Given the description of an element on the screen output the (x, y) to click on. 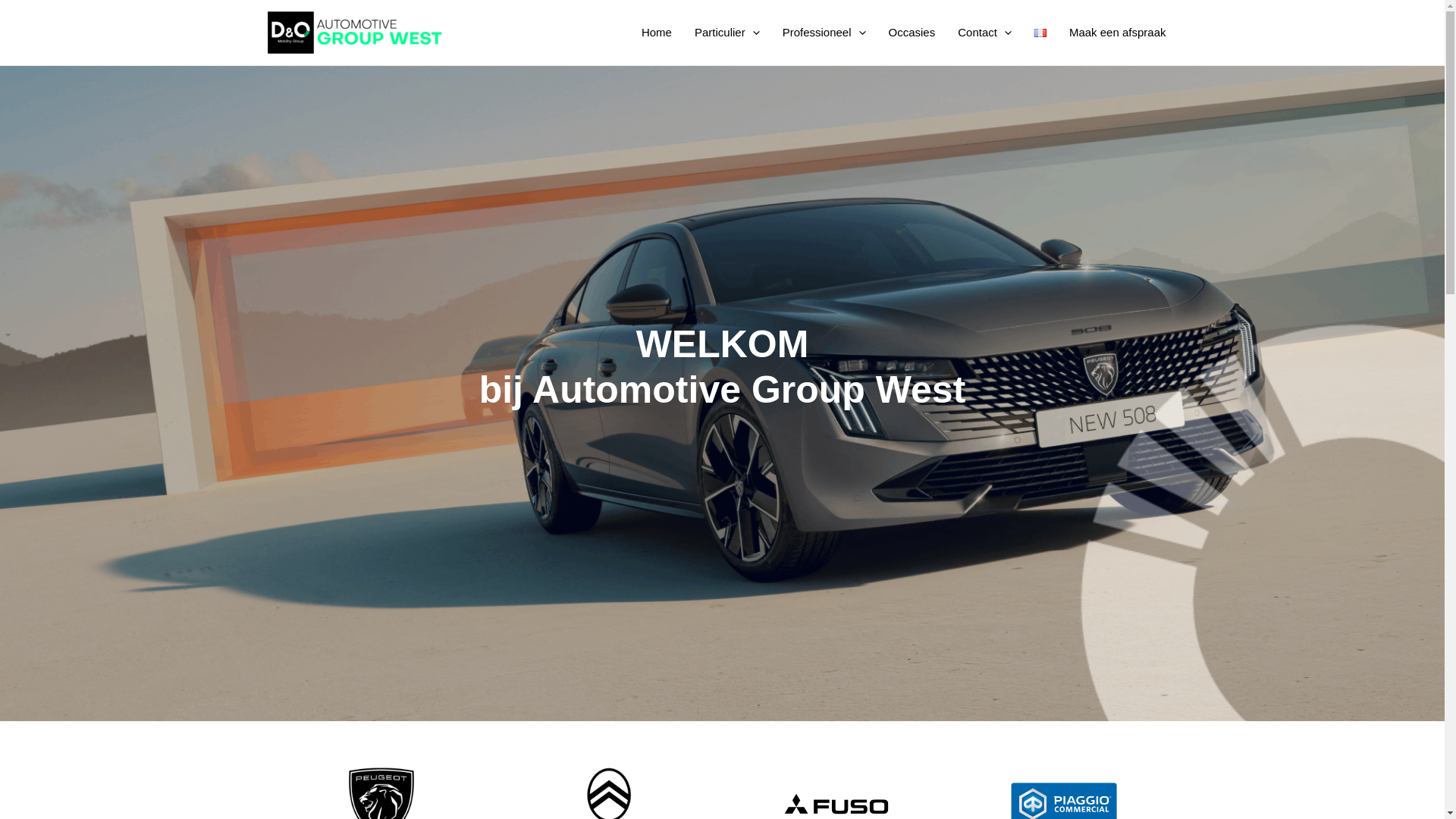
Contact Element type: text (984, 32)
Particulier Element type: text (727, 32)
Professioneel Element type: text (824, 32)
Maak een afspraak Element type: text (1117, 32)
Occasies Element type: text (912, 32)
Home Element type: text (656, 32)
